Given the description of an element on the screen output the (x, y) to click on. 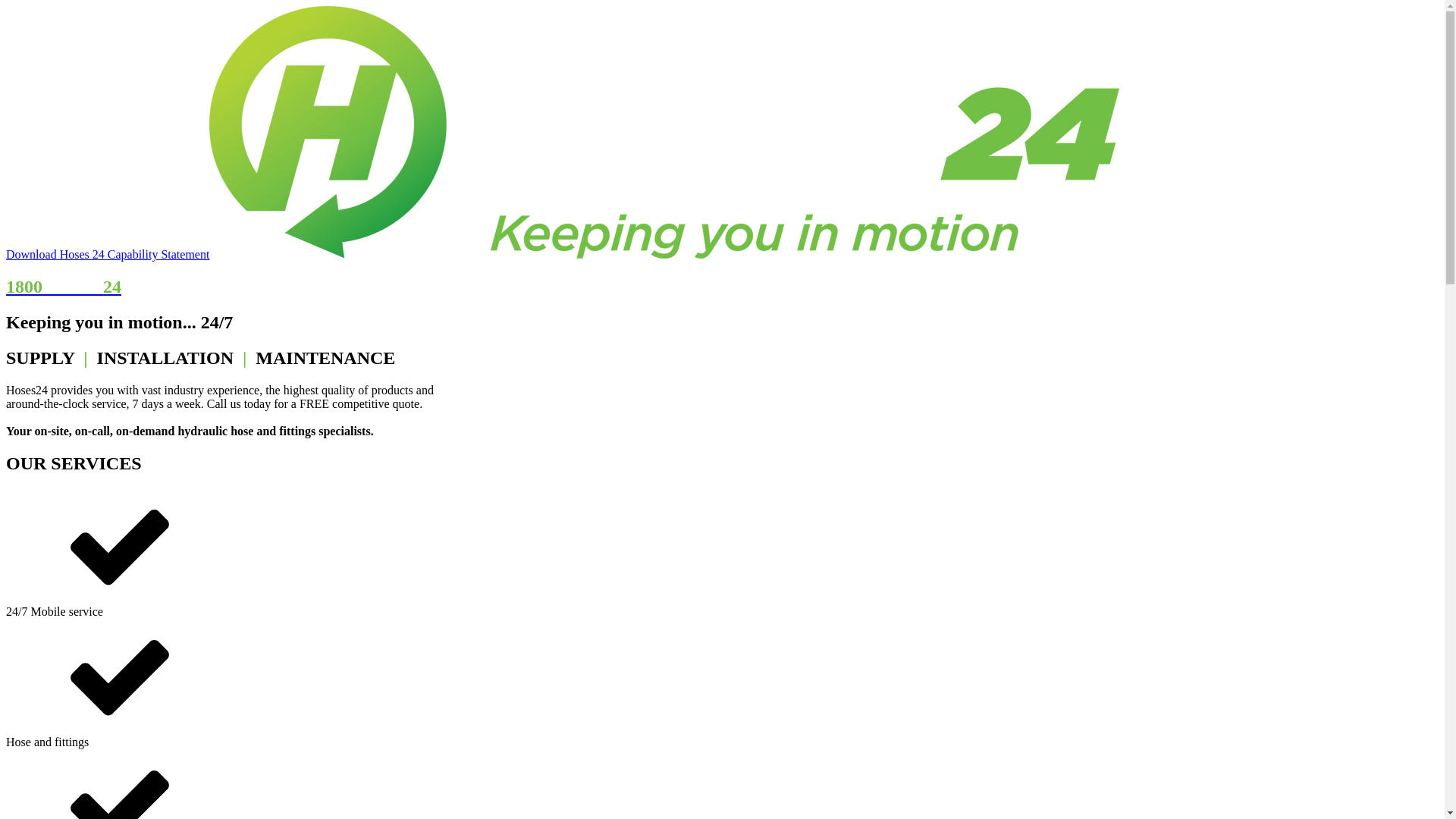
1800HOSES24 Element type: text (722, 301)
Download Hoses 24 Capability Statement Element type: text (107, 253)
